Given the description of an element on the screen output the (x, y) to click on. 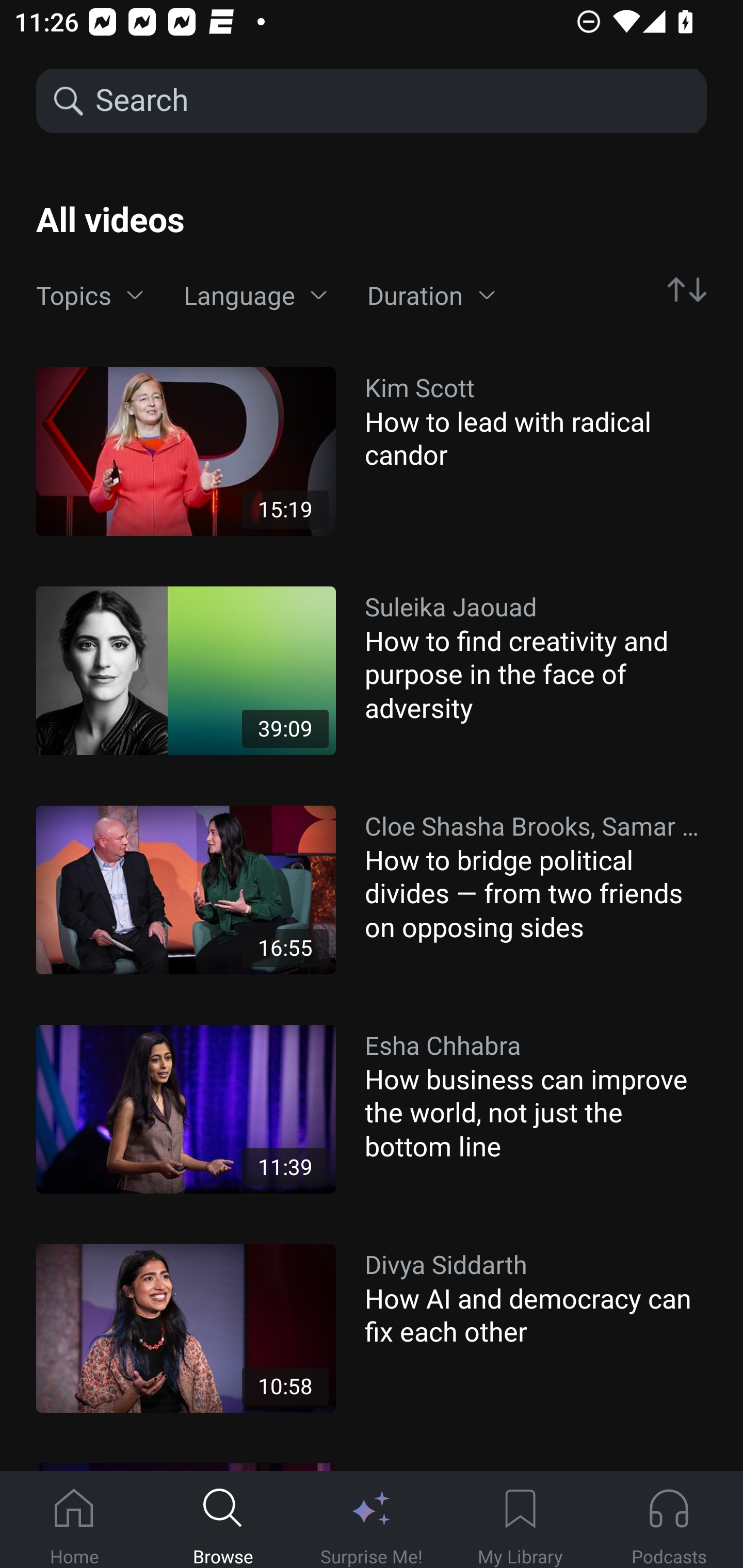
Search (395, 100)
Topics (90, 295)
Language (255, 295)
Duration (431, 295)
15:19 Kim Scott How to lead with radical candor (371, 451)
Home (74, 1520)
Browse (222, 1520)
Surprise Me! (371, 1520)
My Library (519, 1520)
Podcasts (668, 1520)
